Given the description of an element on the screen output the (x, y) to click on. 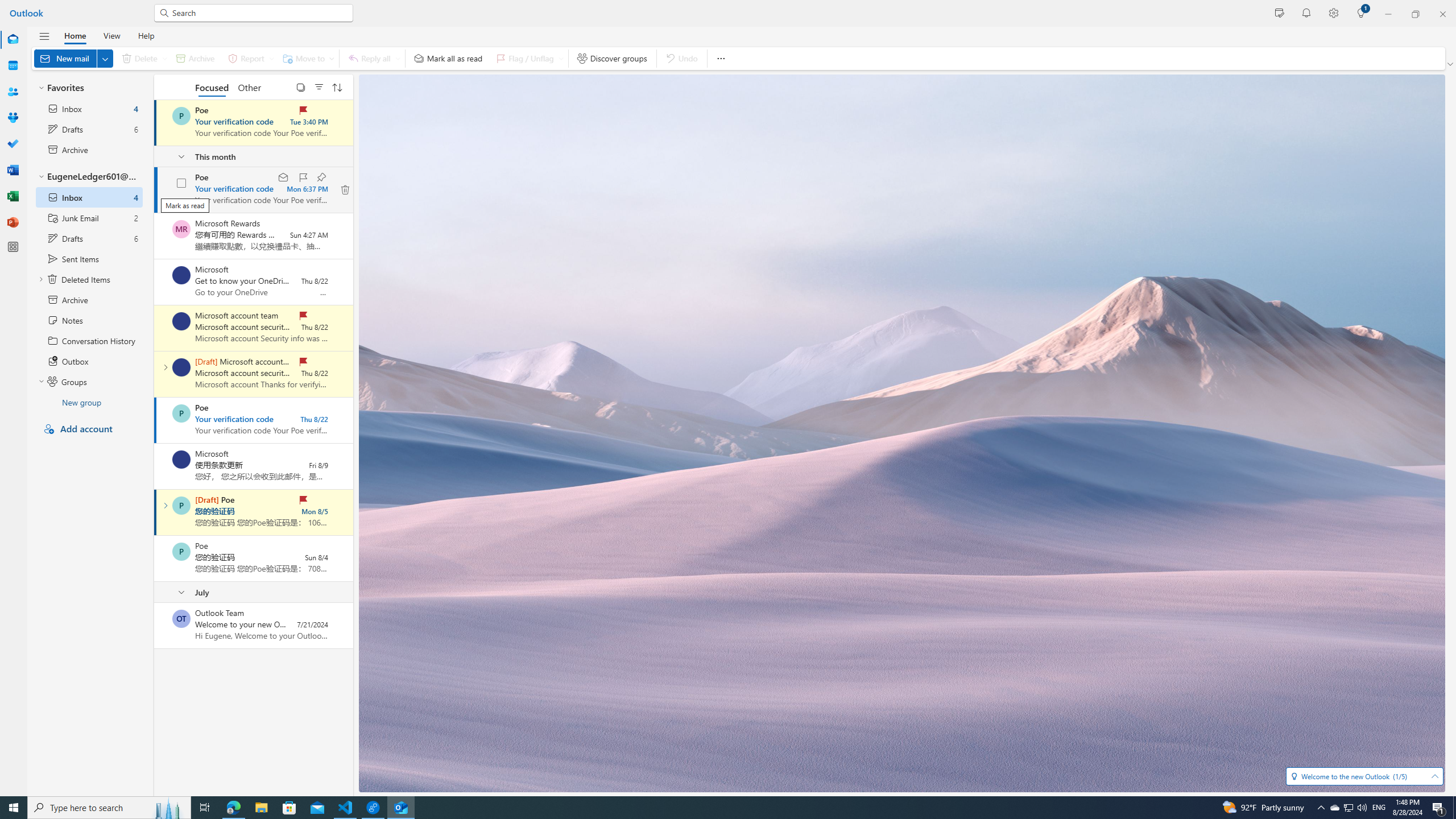
Calendar (12, 65)
Microsoft account team (180, 367)
More options (720, 58)
View (111, 35)
Help (146, 35)
Filter (318, 86)
People (12, 91)
Reply all (372, 58)
Expand to see flag options (561, 58)
Word (12, 169)
Groups (12, 117)
